Given the description of an element on the screen output the (x, y) to click on. 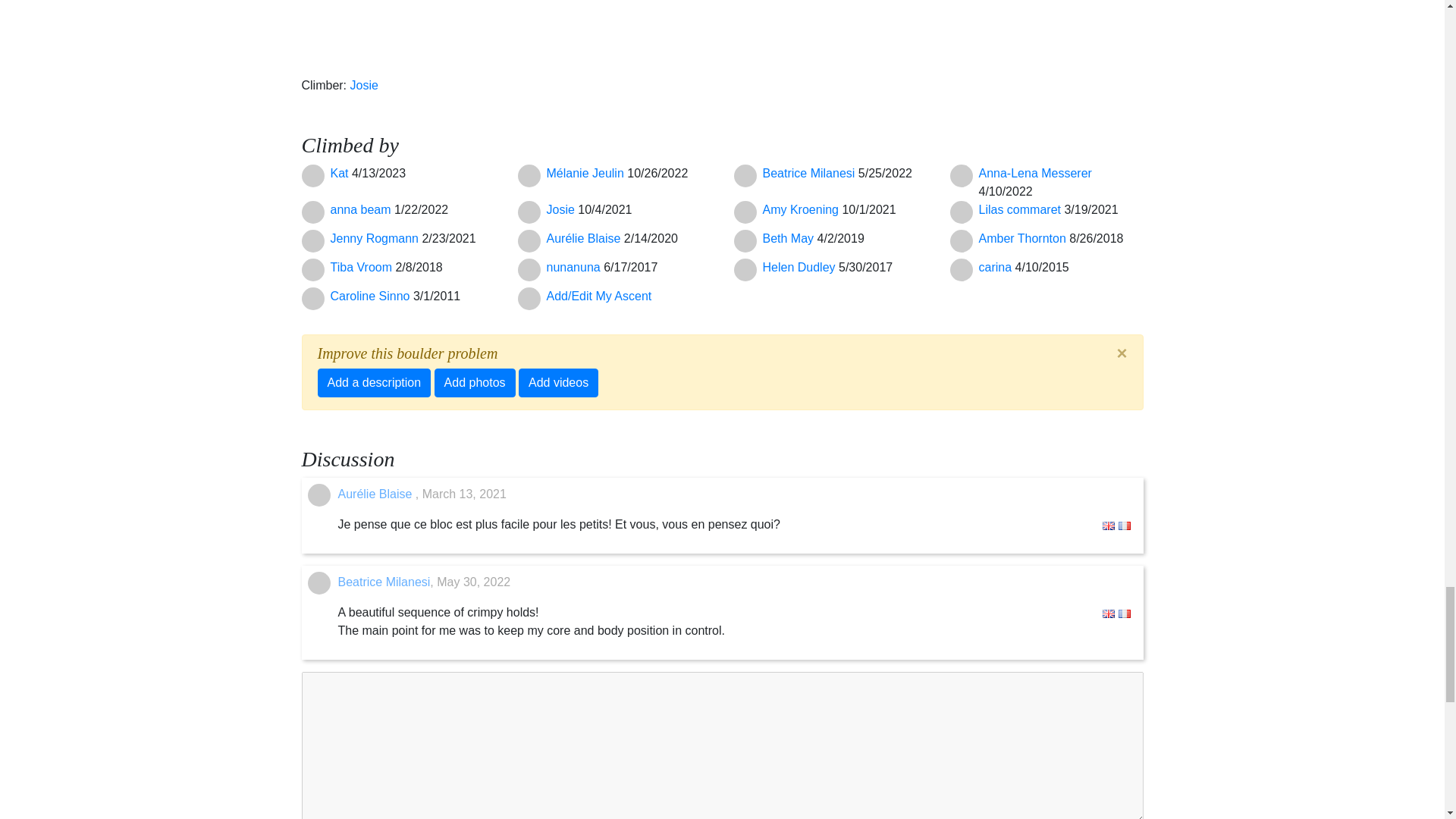
Jenny Rogmann (376, 237)
anna beam (362, 209)
Beth May (789, 237)
nunanuna (575, 267)
Tiba Vroom (363, 267)
carina (996, 267)
Caroline Sinno (371, 295)
Beatrice Milanesi (810, 173)
Helen Dudley (801, 267)
Lilas commaret (1021, 209)
